Given the description of an element on the screen output the (x, y) to click on. 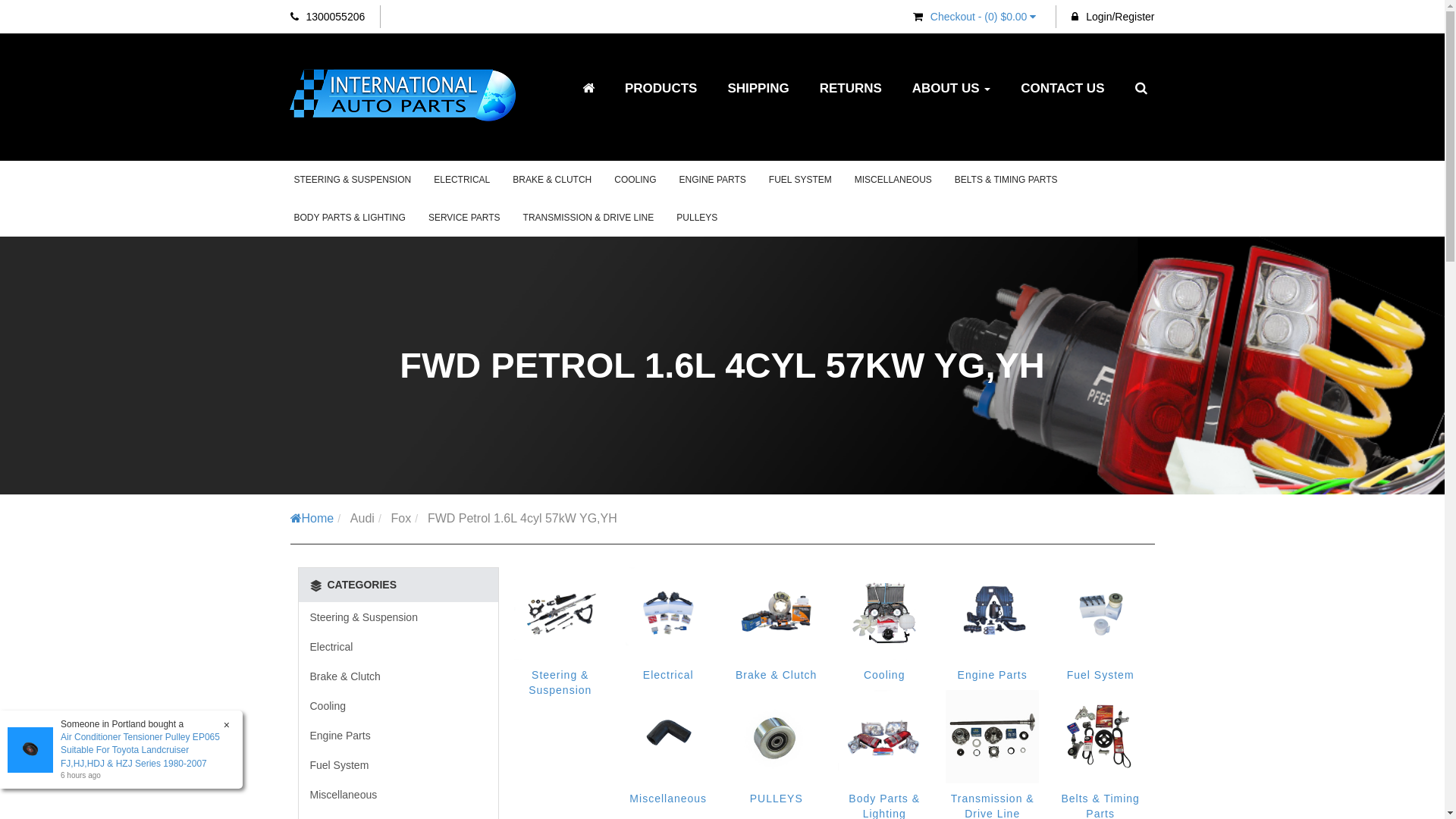
BELTS & TIMING PARTS Element type: text (1006, 179)
Steering & Suspension Element type: text (559, 682)
Miscellaneous Element type: text (398, 794)
Cooling Element type: text (883, 674)
SHIPPING Element type: text (757, 88)
CONTACT US Element type: text (1062, 88)
Electrical Element type: text (668, 674)
ELECTRICAL Element type: text (461, 179)
STEERING & SUSPENSION Element type: text (352, 179)
Fuel System Element type: text (398, 764)
FUEL SYSTEM Element type: text (800, 179)
Fox Element type: text (401, 517)
Cooling Element type: text (398, 705)
FWD Petrol 1.6L 4cyl 57kW YG,YH Element type: text (522, 517)
Engine Parts Element type: text (992, 674)
PULLEYS Element type: text (696, 217)
MISCELLANEOUS Element type: text (893, 179)
Engine Parts Element type: text (398, 735)
TRANSMISSION & DRIVE LINE Element type: text (588, 217)
Brake & Clutch Element type: text (775, 674)
BRAKE & CLUTCH Element type: text (551, 179)
Miscellaneous Element type: text (667, 797)
PULLEYS Element type: text (776, 797)
Audi Element type: text (362, 517)
Checkout - (0) $0.00 Element type: text (976, 16)
Fuel System Element type: text (1100, 674)
Steering & Suspension Element type: text (398, 617)
RETURNS Element type: text (850, 88)
SERVICE PARTS Element type: text (464, 217)
Brake & Clutch Element type: text (398, 676)
International Auto Parts Pty Ltd Element type: hover (401, 97)
PRODUCTS Element type: text (660, 88)
Home Element type: text (311, 517)
Electrical Element type: text (398, 646)
BODY PARTS & LIGHTING Element type: text (349, 217)
COOLING Element type: text (634, 179)
1300055206 Element type: text (326, 16)
ABOUT US Element type: text (951, 88)
ENGINE PARTS Element type: text (712, 179)
Login/Register Element type: text (1112, 16)
